Given the description of an element on the screen output the (x, y) to click on. 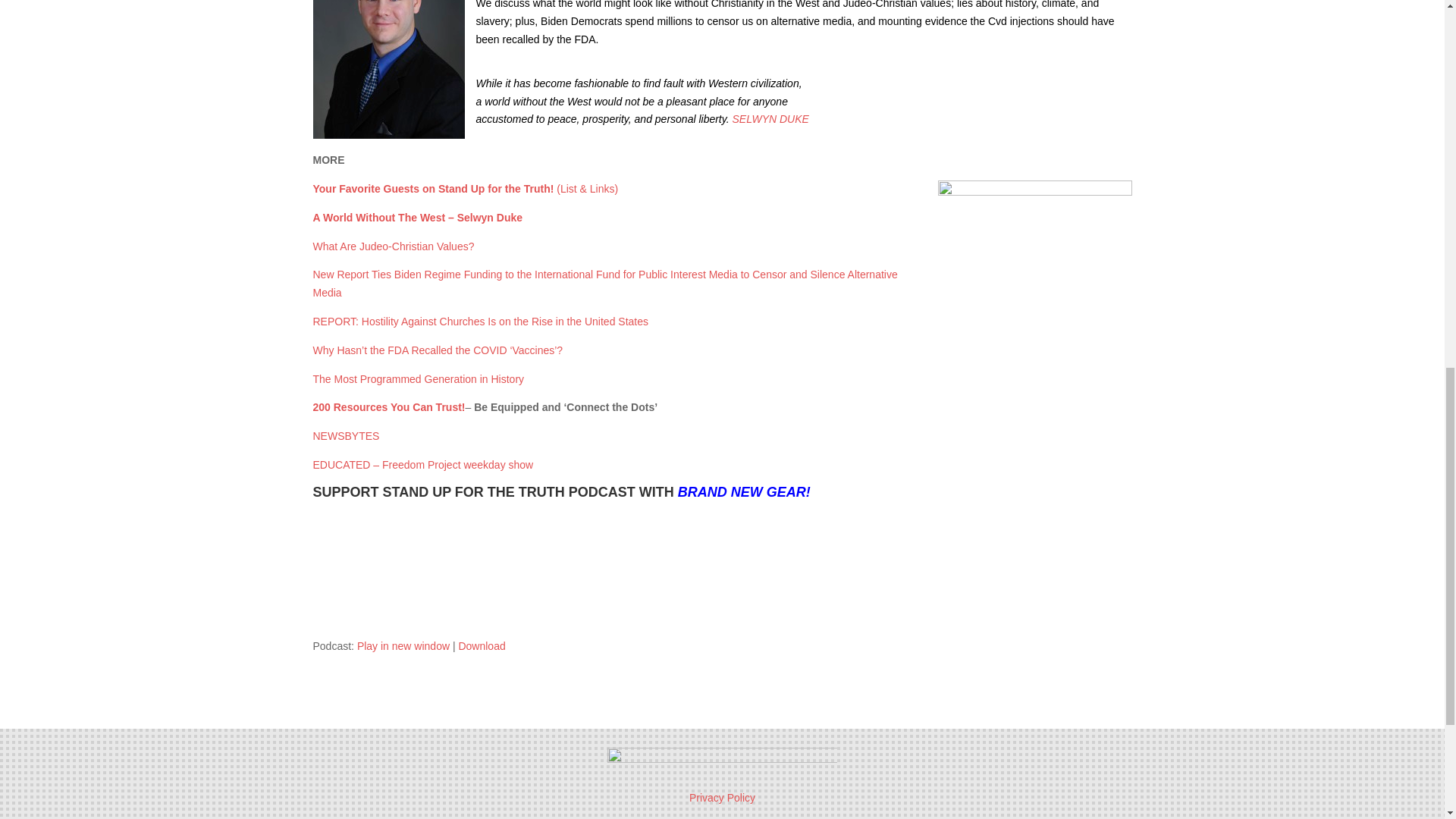
Play in new window (402, 645)
Download (481, 645)
Blubrry Podcast Player (722, 568)
